Given the description of an element on the screen output the (x, y) to click on. 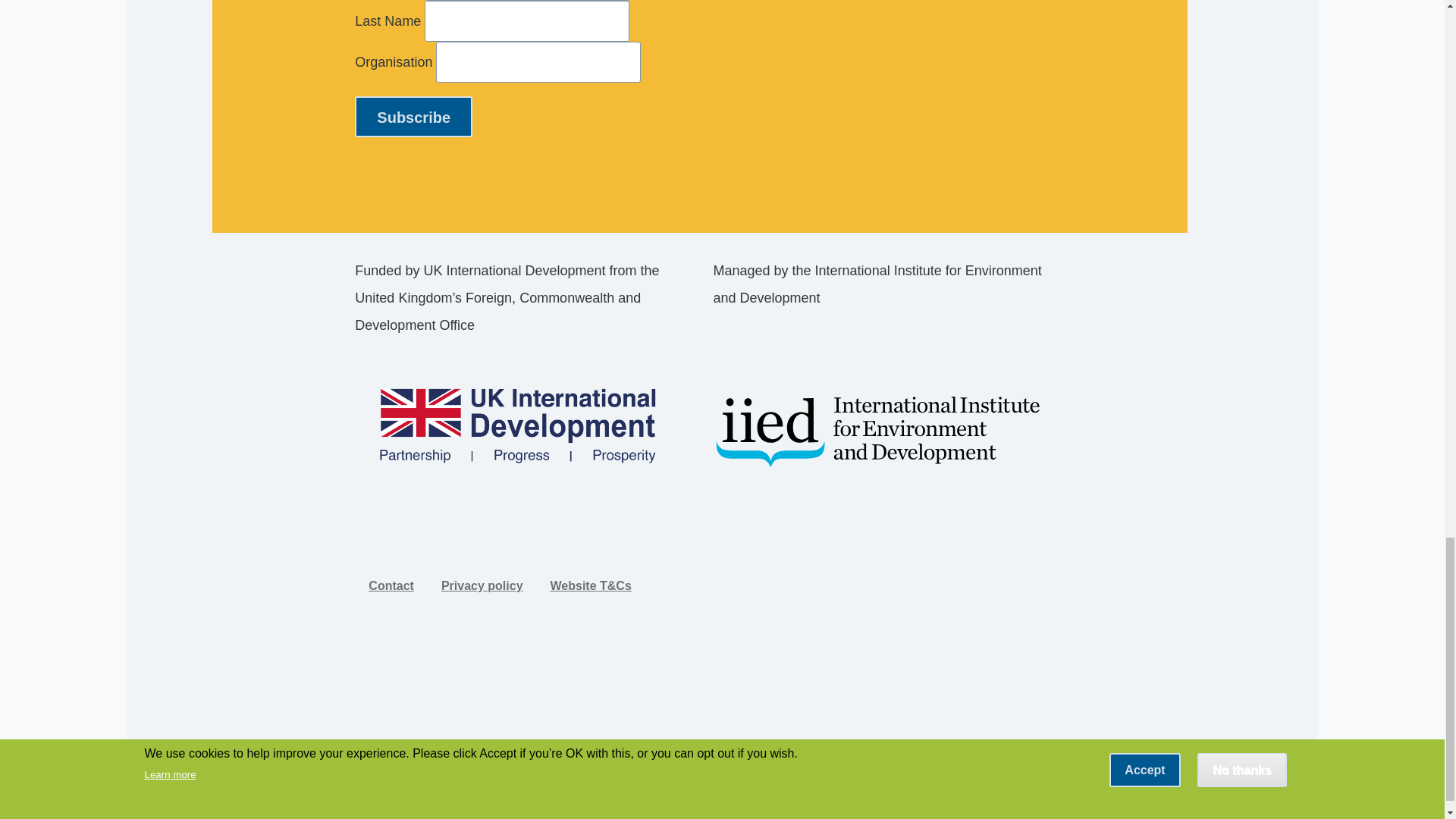
Subscribe (413, 116)
Contact (390, 585)
Privacy policy (481, 585)
Subscribe (413, 116)
